Given the description of an element on the screen output the (x, y) to click on. 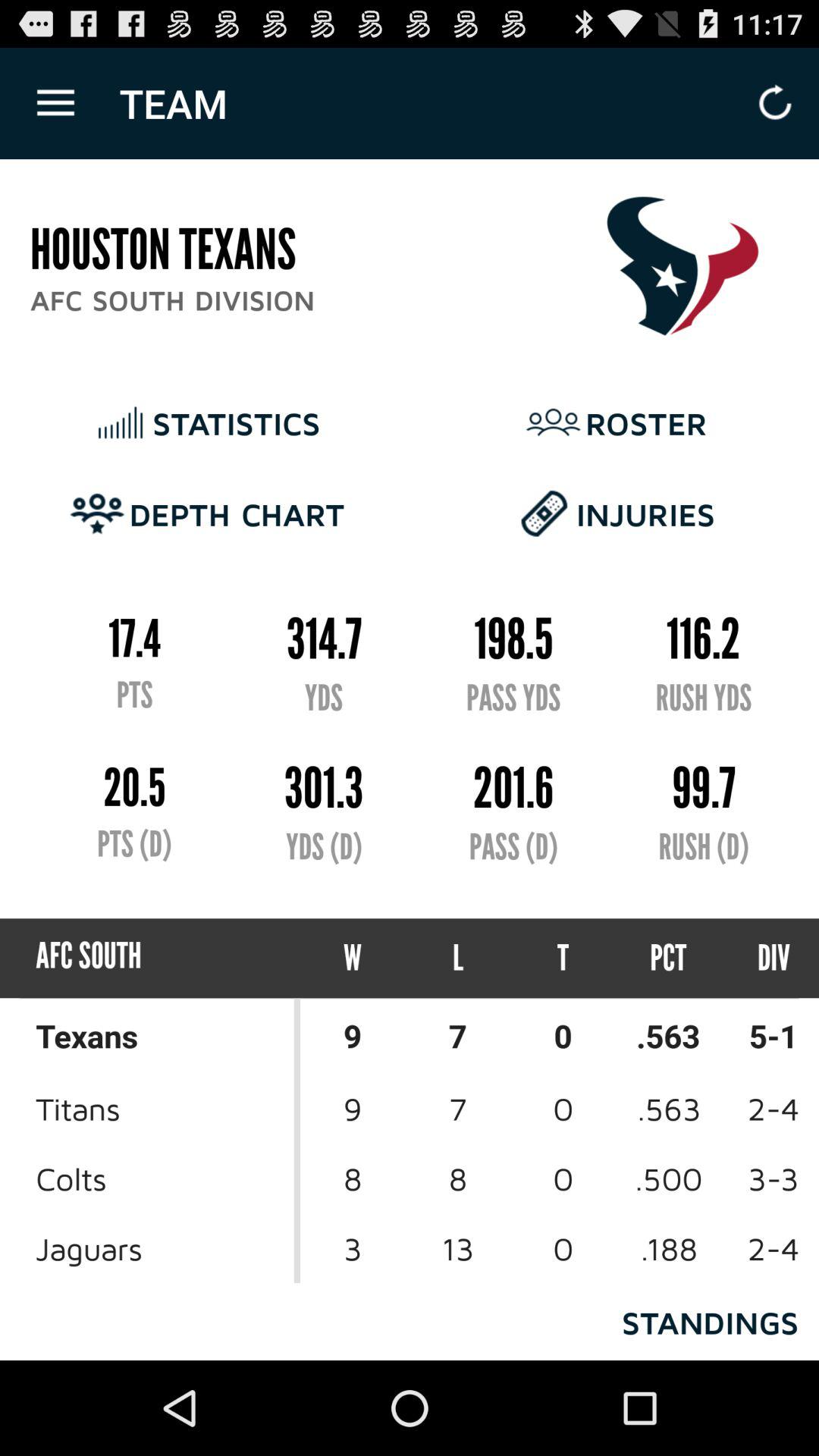
swipe until w (352, 958)
